Given the description of an element on the screen output the (x, y) to click on. 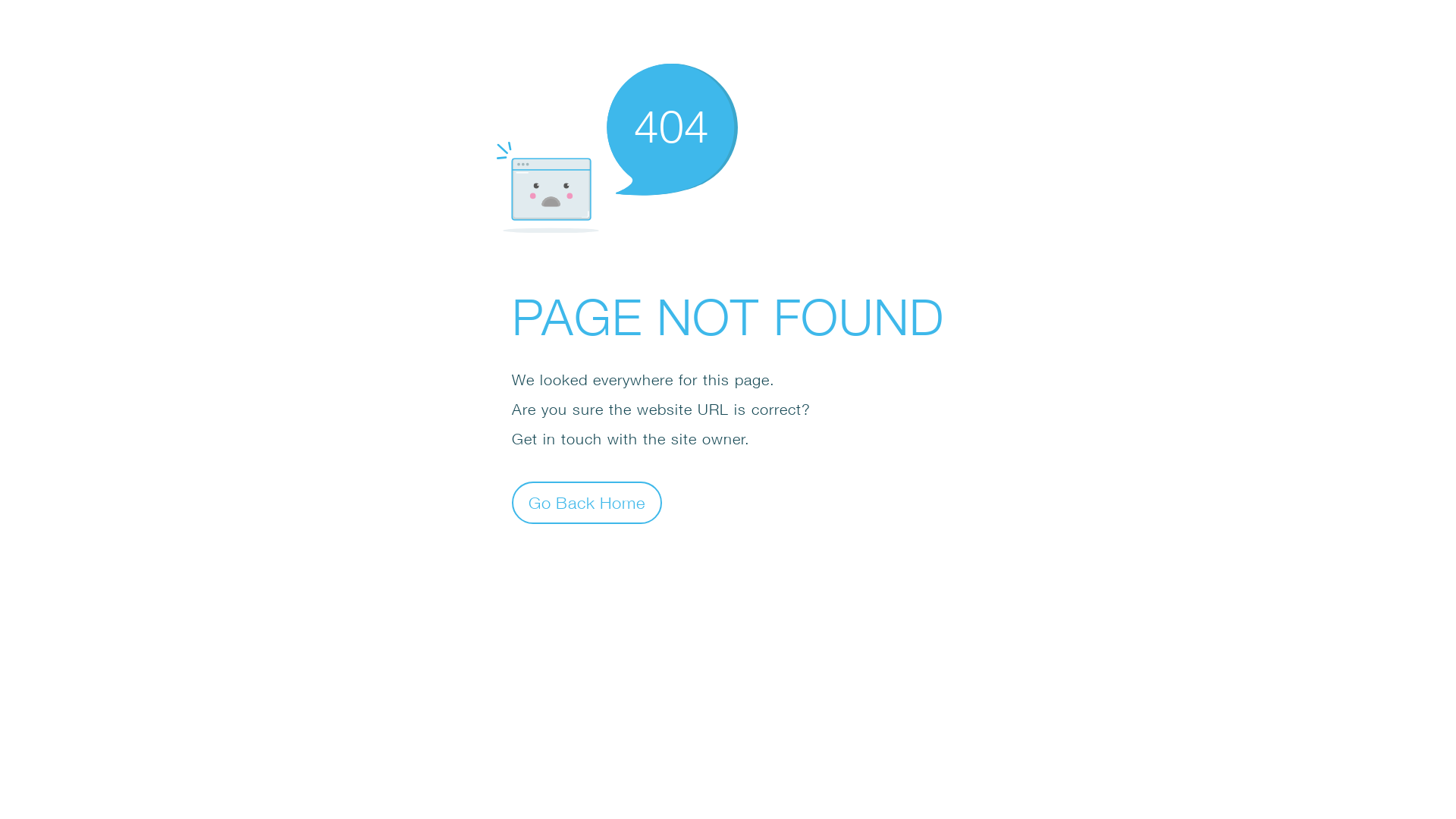
Go Back Home Element type: text (586, 502)
